Given the description of an element on the screen output the (x, y) to click on. 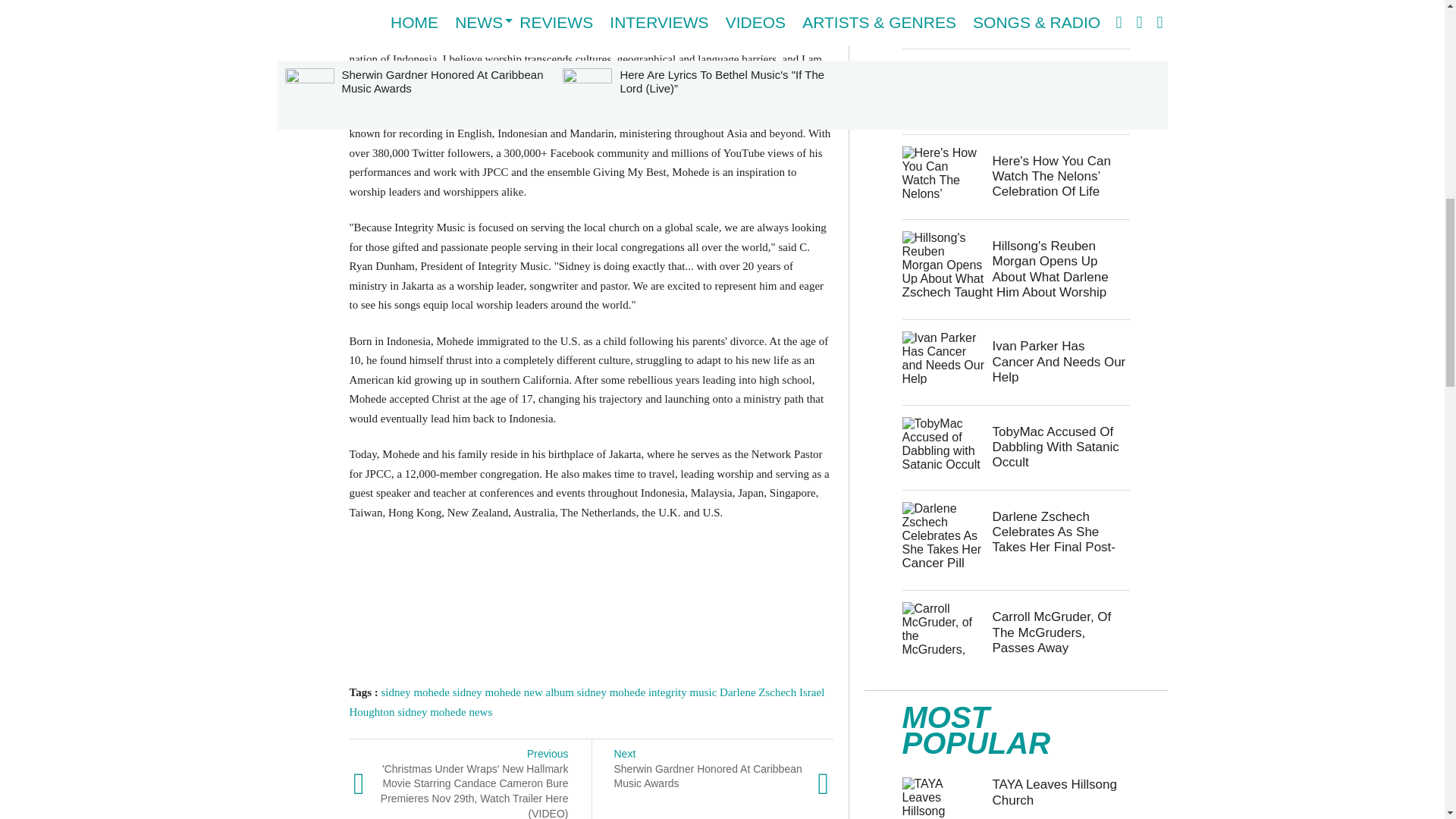
sidney mohede (414, 692)
sidney mohede integrity music (646, 692)
sidney mohede new album (512, 692)
